Given the description of an element on the screen output the (x, y) to click on. 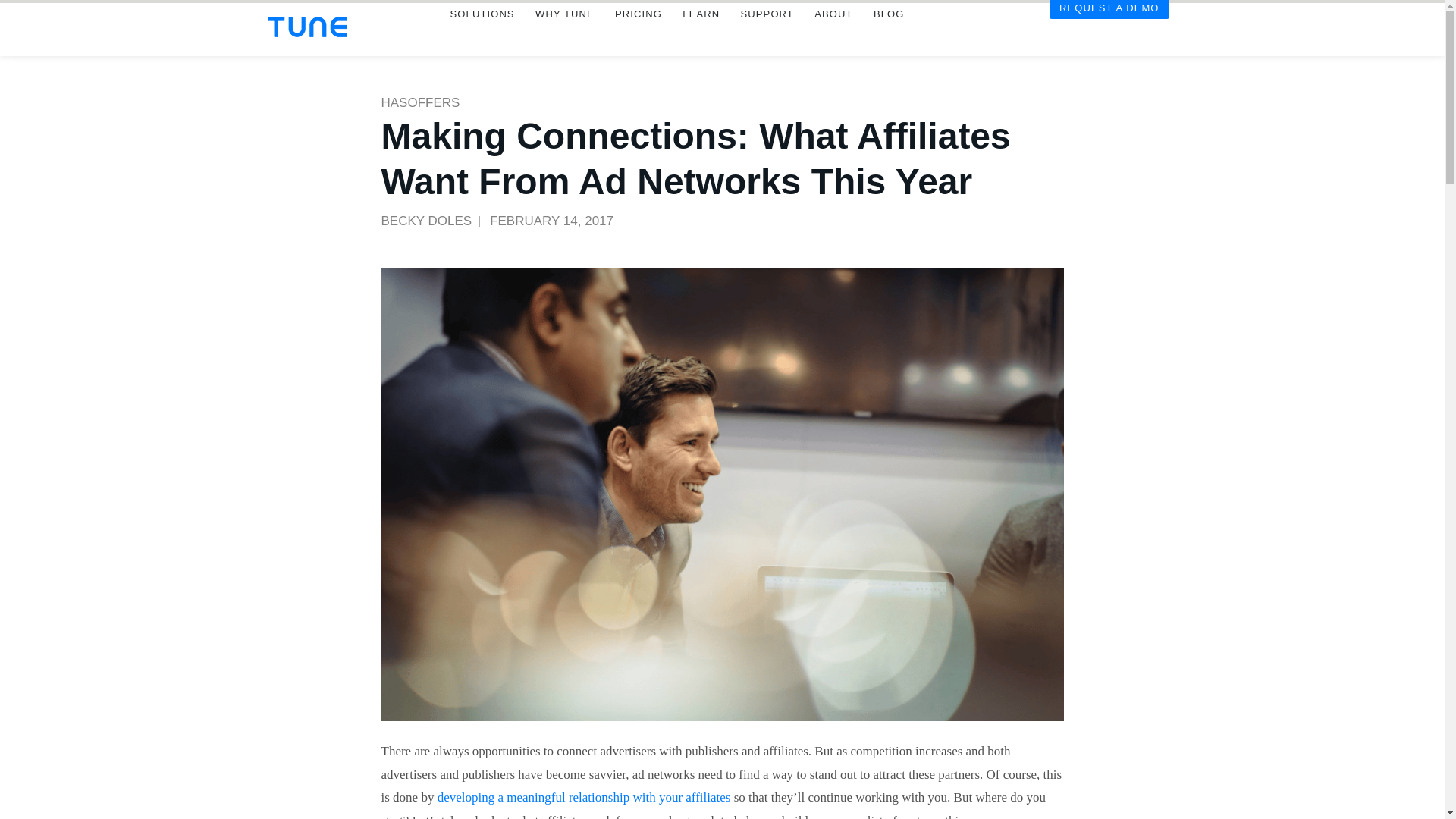
ABOUT (832, 35)
Get Started (1108, 29)
SUPPORT (767, 35)
BLOG (888, 35)
PRICING (637, 35)
TUNE Blog (888, 35)
Performance Marketing Platform (306, 26)
WHY TUNE (563, 35)
SOLUTIONS (481, 35)
LEARN (700, 35)
